Given the description of an element on the screen output the (x, y) to click on. 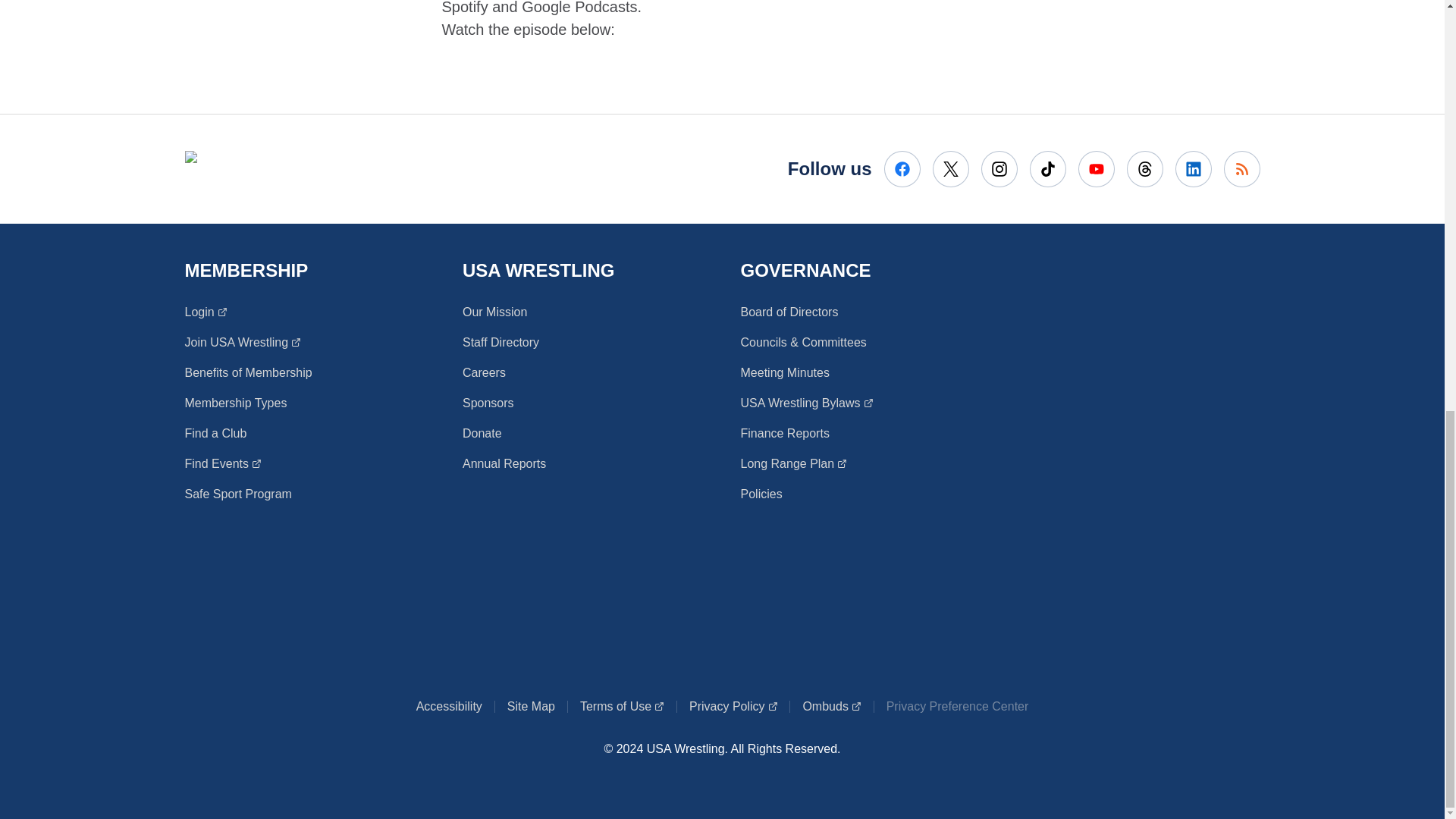
Membership Types (235, 402)
Board of Directors (242, 342)
Benefits of Membership (788, 312)
Staff Directory (248, 372)
Go to Tiktok (500, 342)
Find a Club (1047, 168)
Go to Threads (215, 434)
Go to Instagram (1144, 168)
Go to Youtube (999, 168)
Go to RSS (1096, 168)
Go to LinkedIn (1242, 168)
Careers (1192, 168)
